Given the description of an element on the screen output the (x, y) to click on. 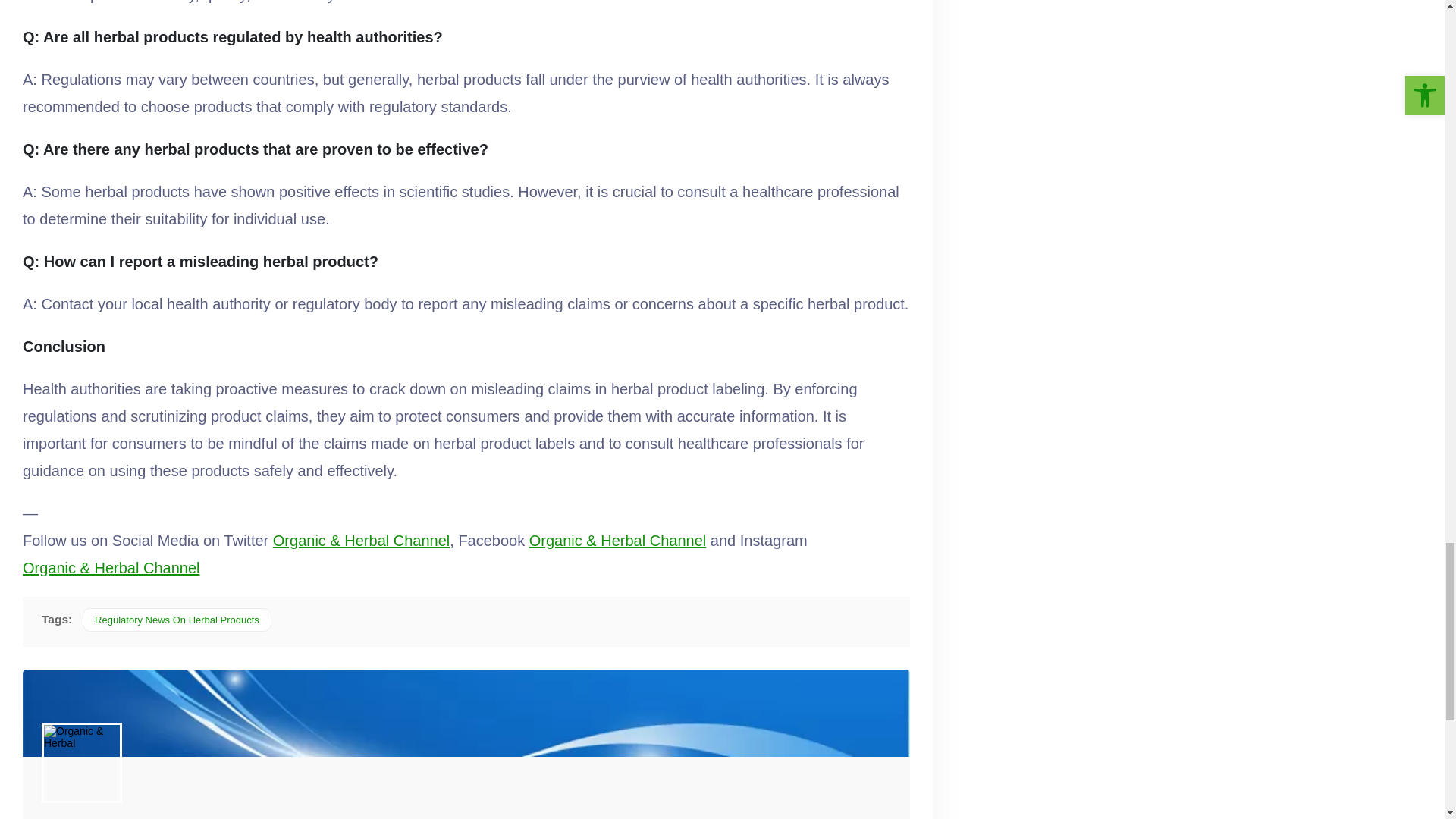
Regulatory News On Herbal Products (176, 619)
